Given the description of an element on the screen output the (x, y) to click on. 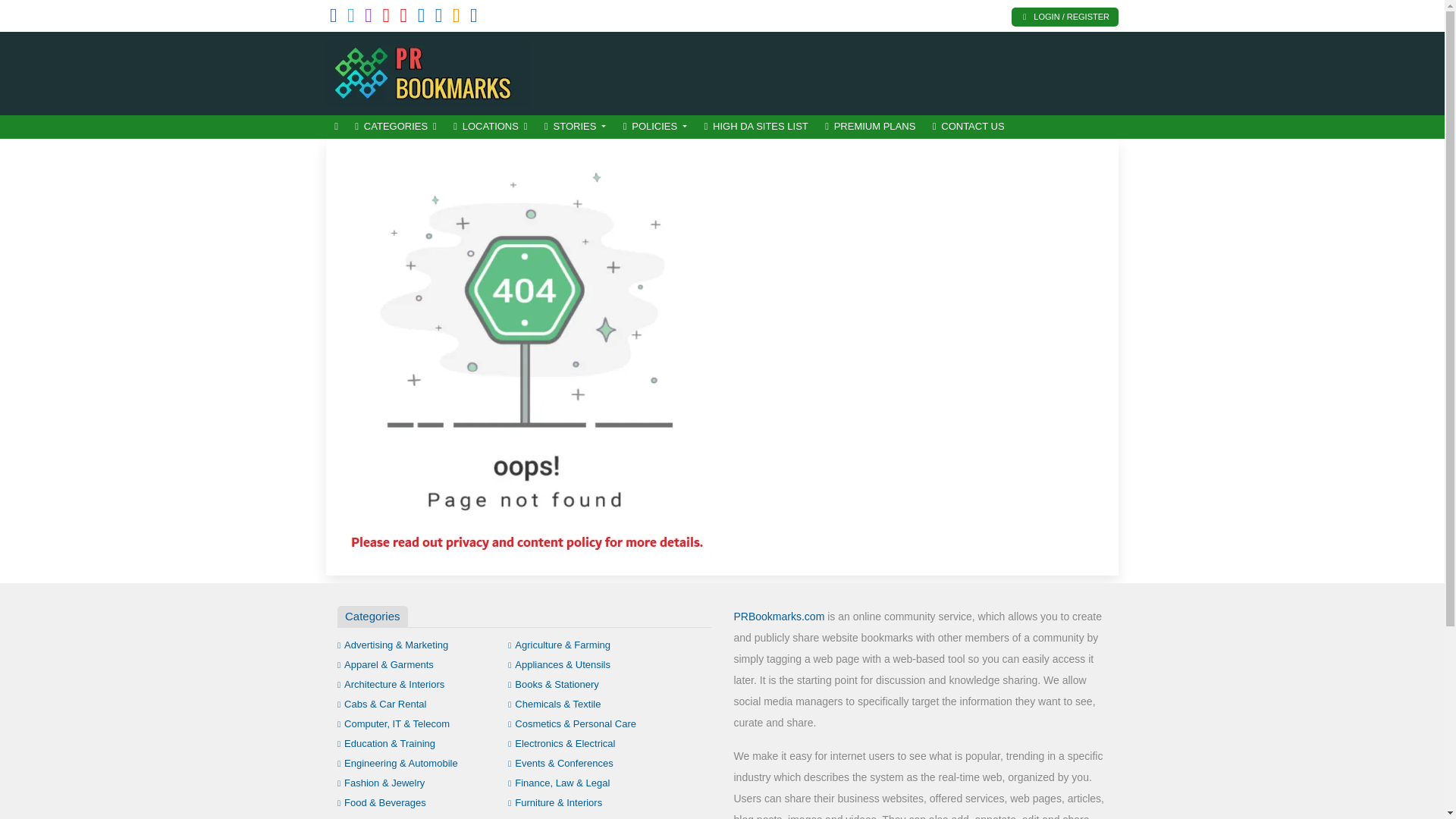
Twitter (351, 18)
Pinterest (403, 18)
HOME (336, 126)
Linked In (473, 18)
YouTube (385, 18)
CATEGORIES (395, 126)
Best Social Bookmarking Site to Submit Web Pages and URL (428, 71)
Tumblr (421, 18)
Medium (438, 18)
Instagram (368, 18)
RSS Feed (456, 18)
Facebook (333, 18)
